Given the description of an element on the screen output the (x, y) to click on. 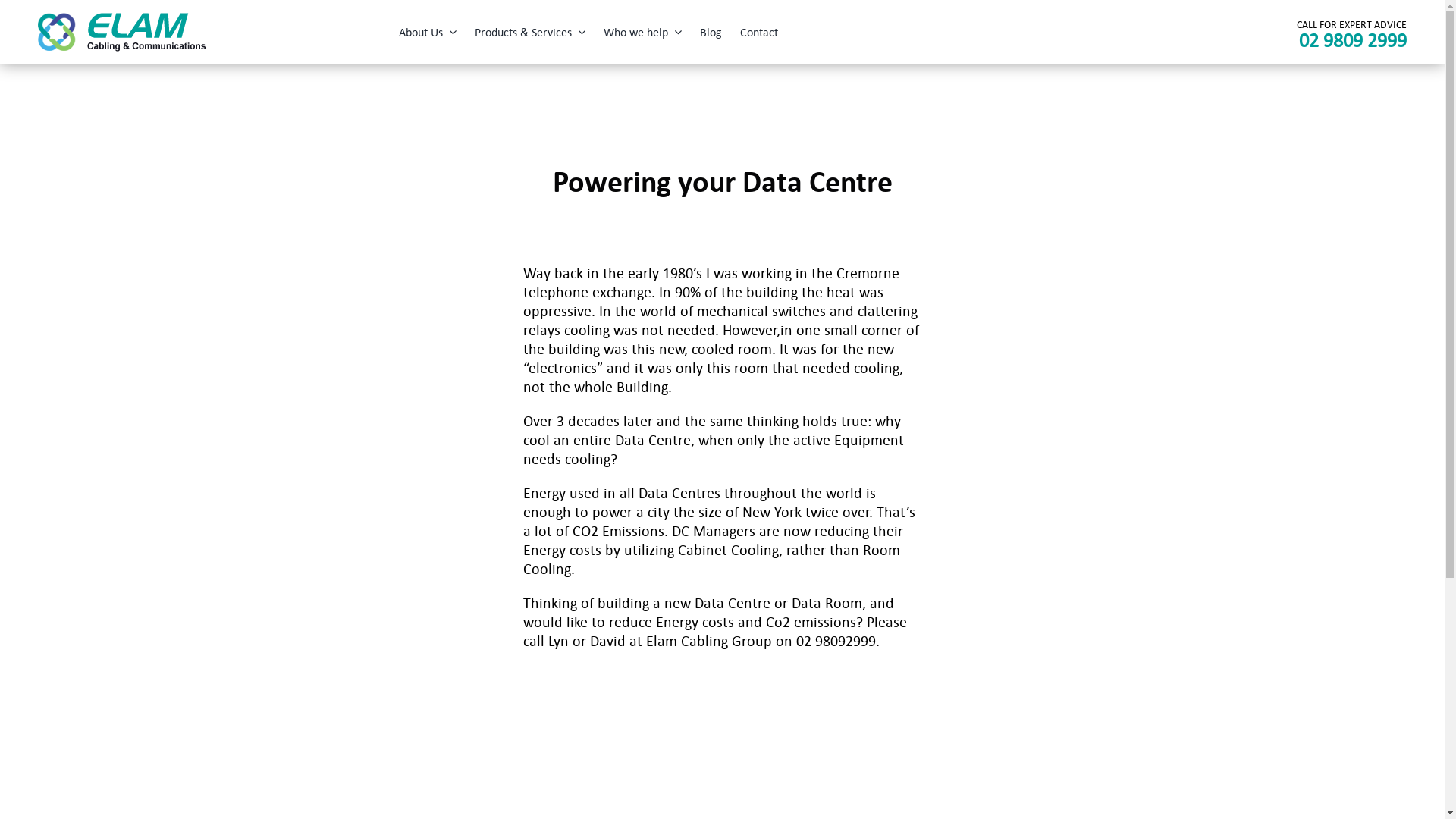
Contact Element type: text (759, 31)
About Us Element type: text (427, 31)
Blog Element type: text (710, 31)
Who we help Element type: text (642, 31)
02 9809 2999 Element type: text (1352, 39)
Products & Services Element type: text (529, 31)
